Given the description of an element on the screen output the (x, y) to click on. 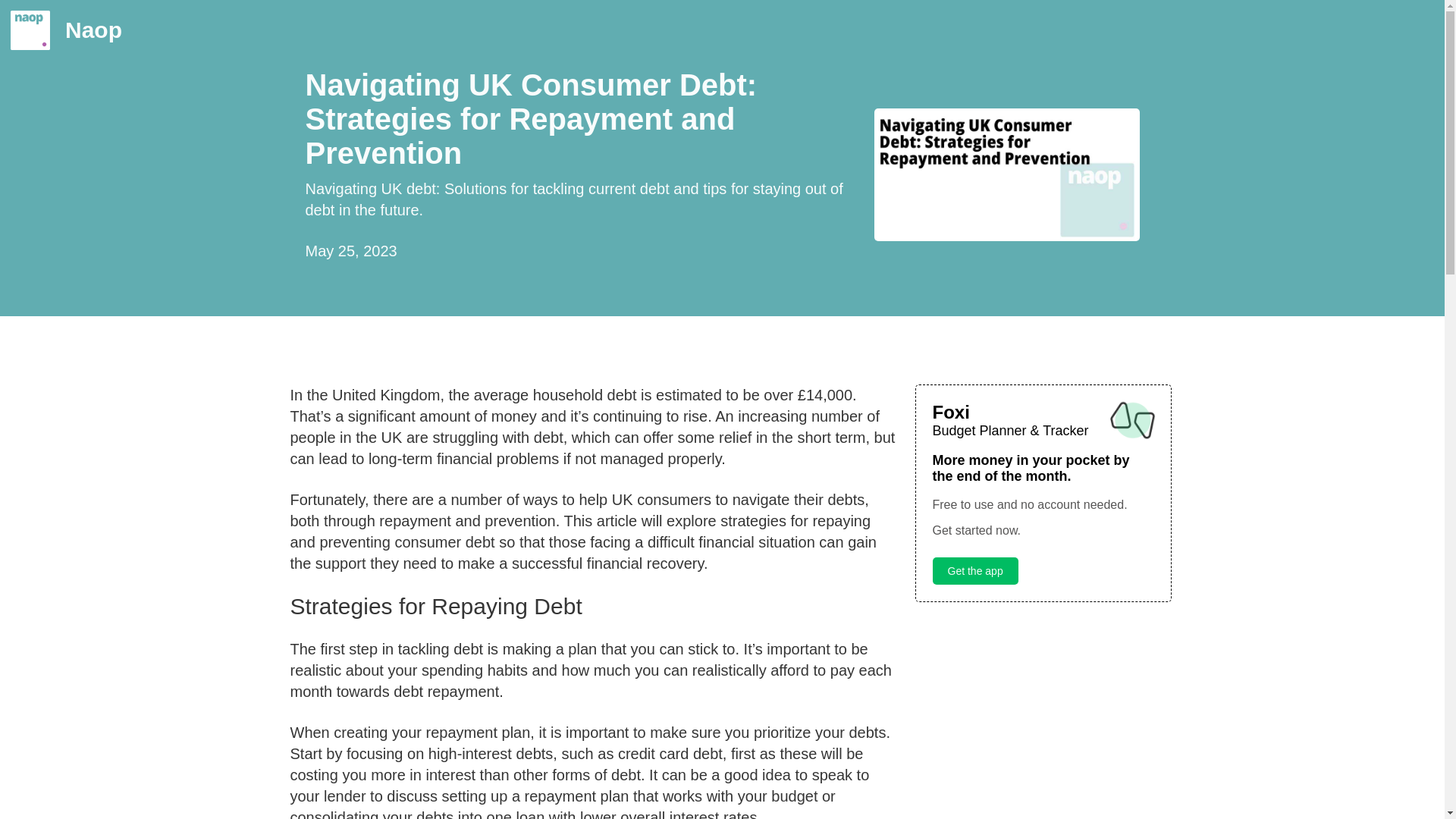
Get the app (975, 570)
Naop (81, 29)
home (81, 29)
